Given the description of an element on the screen output the (x, y) to click on. 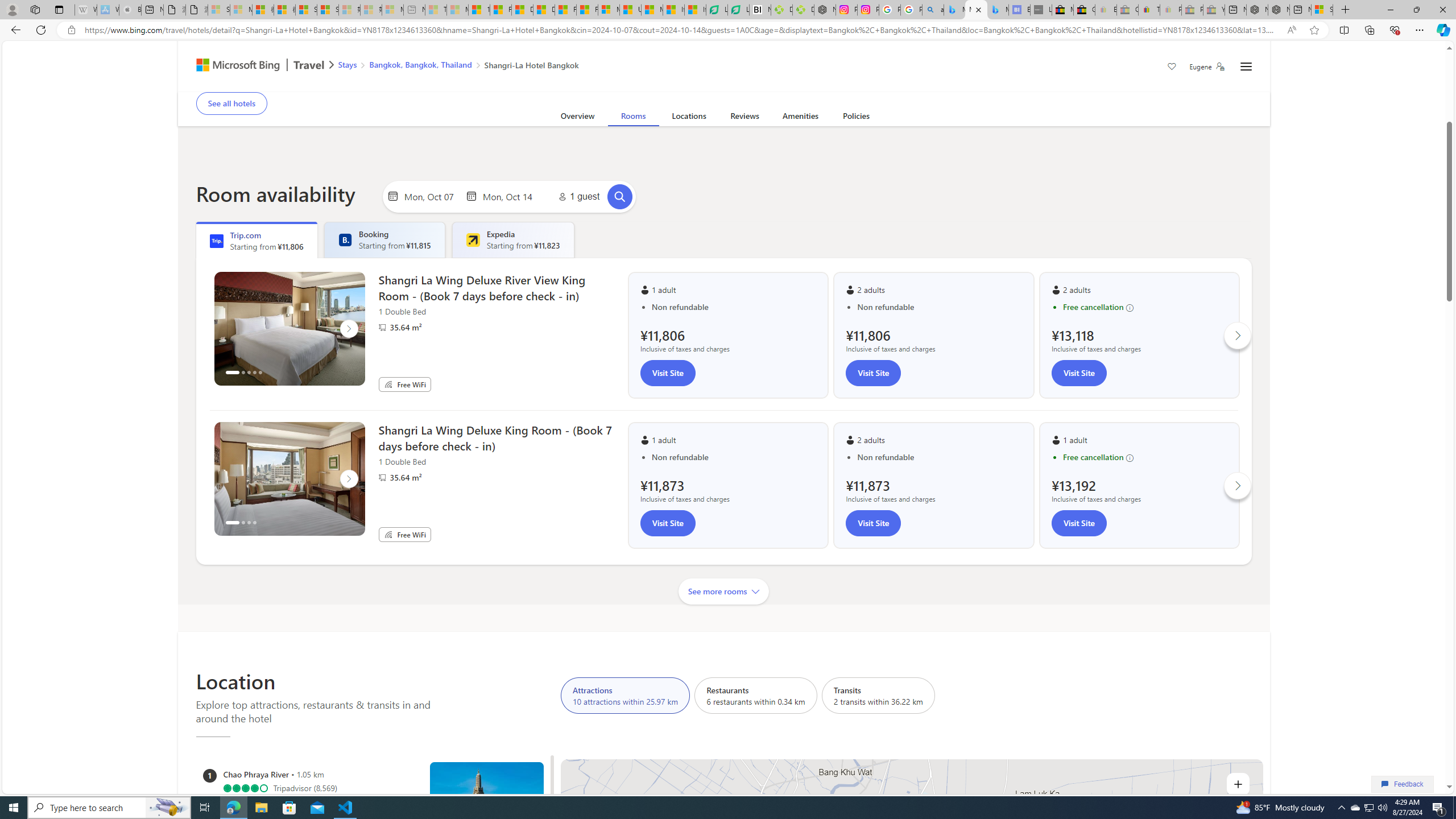
AutomationID: bread-crumb-root (451, 66)
2,234 Booking.com reviews (279, 72)
Non refundable (939, 457)
Payments Terms of Use | eBay.com - Sleeping (1170, 9)
Airport transportation (619, 84)
Drinking tea every day is proven to delay biological aging (543, 9)
